Given the description of an element on the screen output the (x, y) to click on. 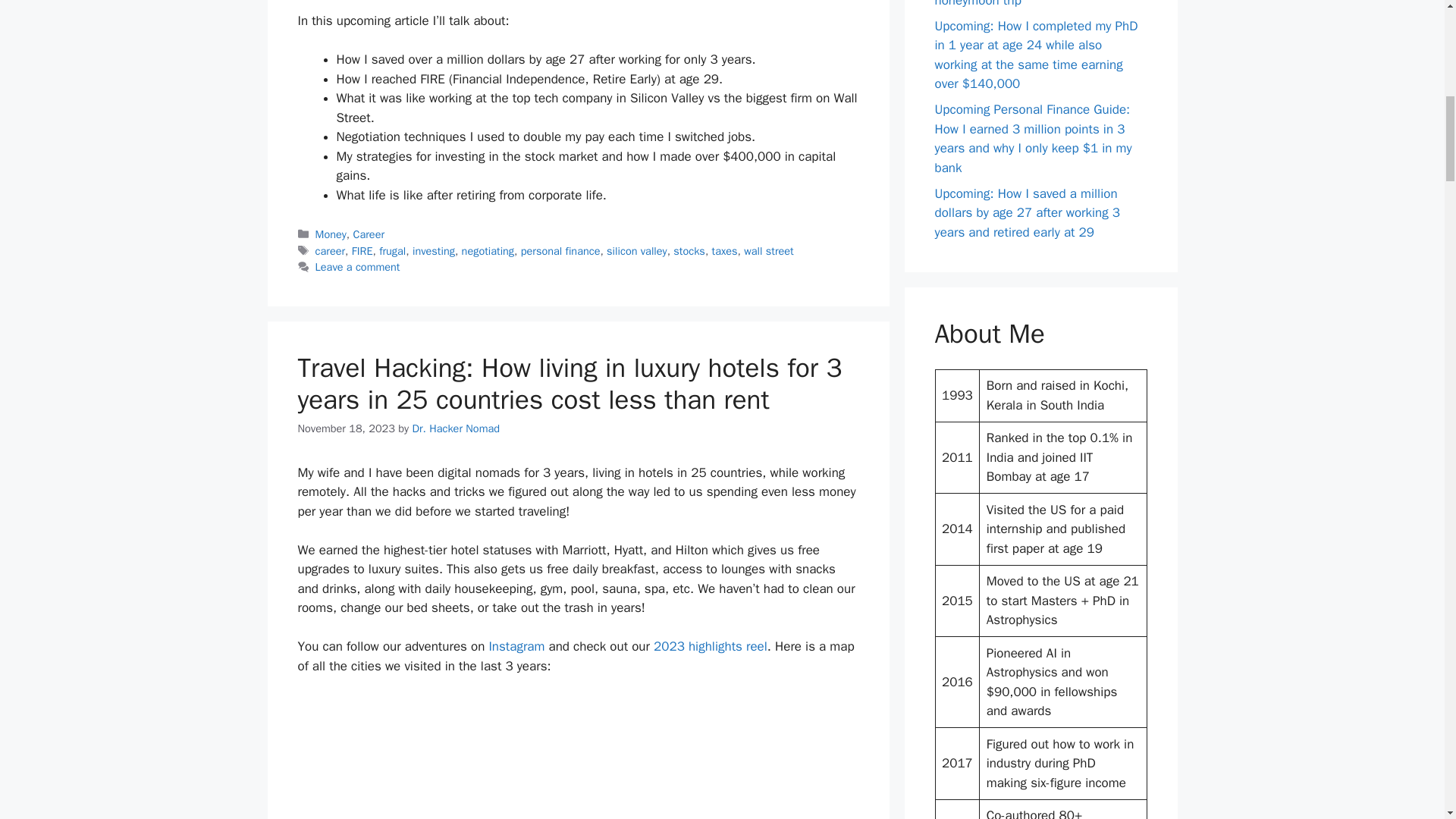
Career (369, 233)
Dr. Hacker Nomad (455, 427)
frugal (392, 250)
Leave a comment (357, 266)
stocks (688, 250)
taxes (724, 250)
FIRE (362, 250)
investing (433, 250)
Money (330, 233)
